Given the description of an element on the screen output the (x, y) to click on. 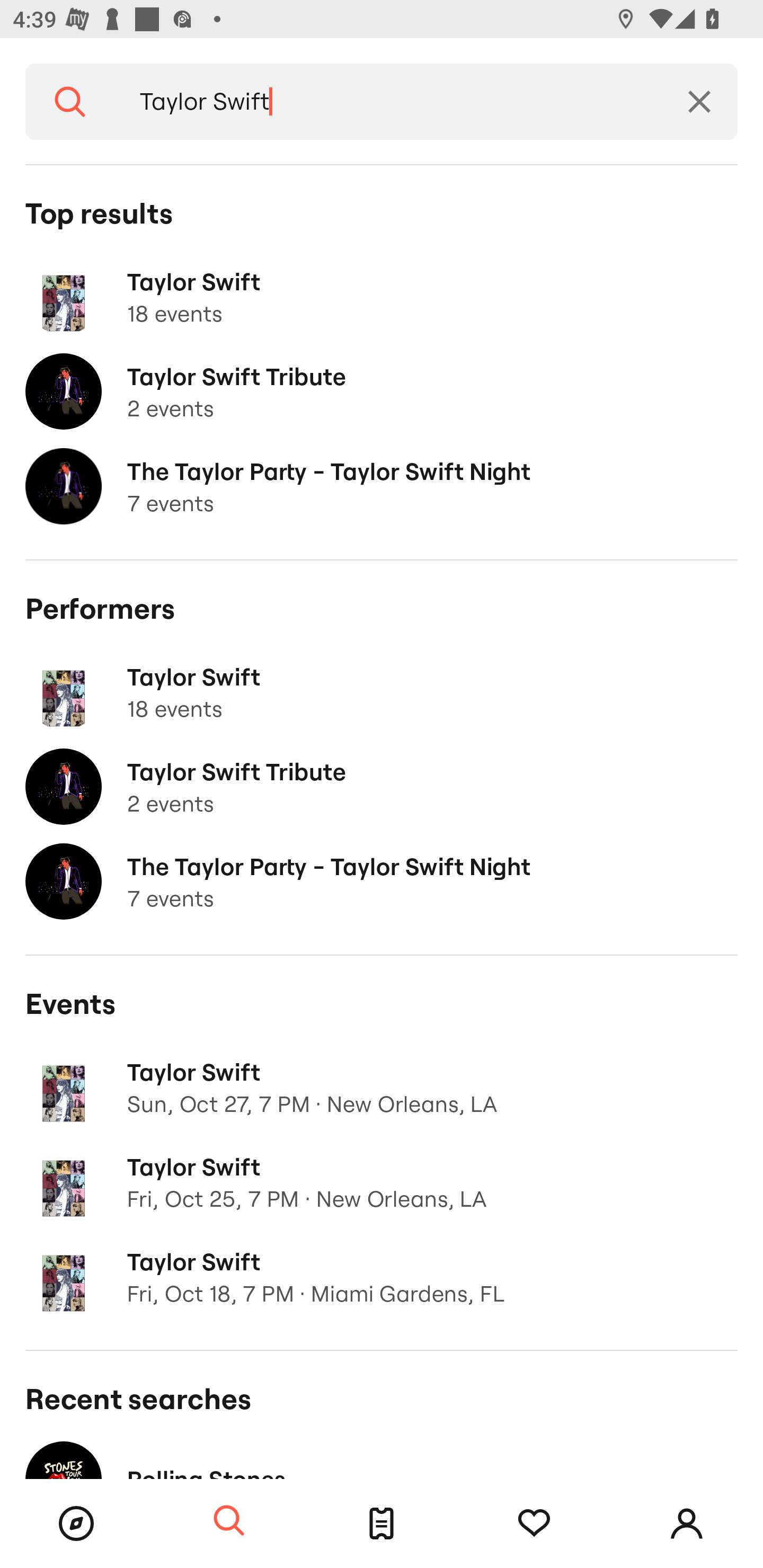
Search (69, 101)
Taylor Swift (387, 101)
Clear (699, 101)
Taylor Swift 18 events (381, 296)
Taylor Swift Tribute 2 events (381, 391)
The Taylor Party - Taylor Swift Night 7 events (381, 486)
Taylor Swift 18 events (381, 692)
Taylor Swift Tribute 2 events (381, 787)
The Taylor Party - Taylor Swift Night 7 events (381, 881)
Taylor Swift Sun, Oct 27, 7 PM · New Orleans, LA (381, 1087)
Taylor Swift Fri, Oct 25, 7 PM · New Orleans, LA (381, 1182)
Taylor Swift Fri, Oct 18, 7 PM · Miami Gardens, FL (381, 1276)
Browse (76, 1523)
Search (228, 1521)
Tickets (381, 1523)
Tracking (533, 1523)
Account (686, 1523)
